Given the description of an element on the screen output the (x, y) to click on. 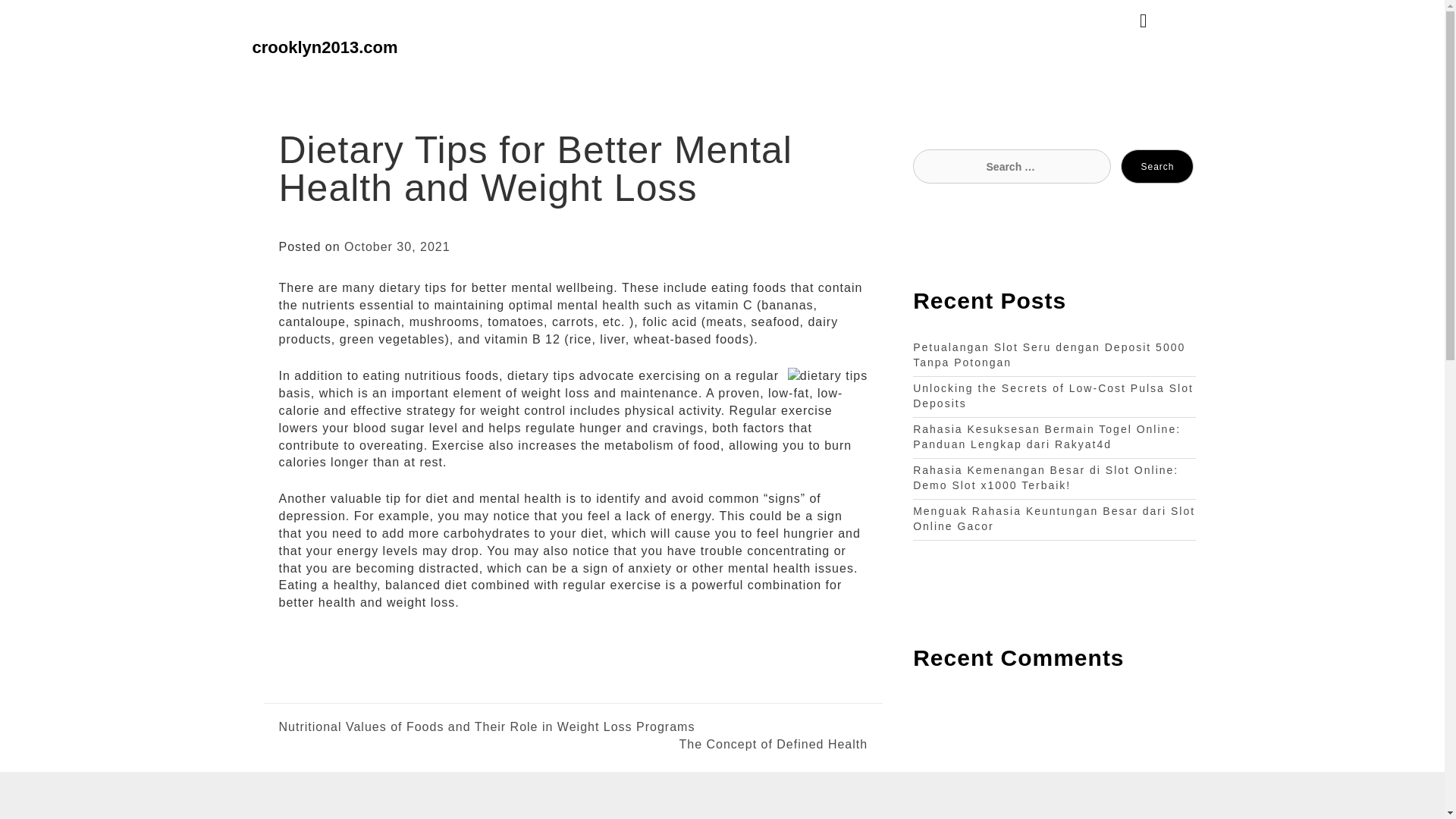
The Concept of Defined Health (720, 744)
Unlocking the Secrets of Low-Cost Pulsa Slot Deposits (1052, 395)
October 30, 2021 (396, 246)
crooklyn2013.com (324, 46)
Menguak Rahasia Keuntungan Besar dari Slot Online Gacor (1053, 518)
Petualangan Slot Seru dengan Deposit 5000 Tanpa Potongan (1048, 354)
Search (1157, 166)
